Given the description of an element on the screen output the (x, y) to click on. 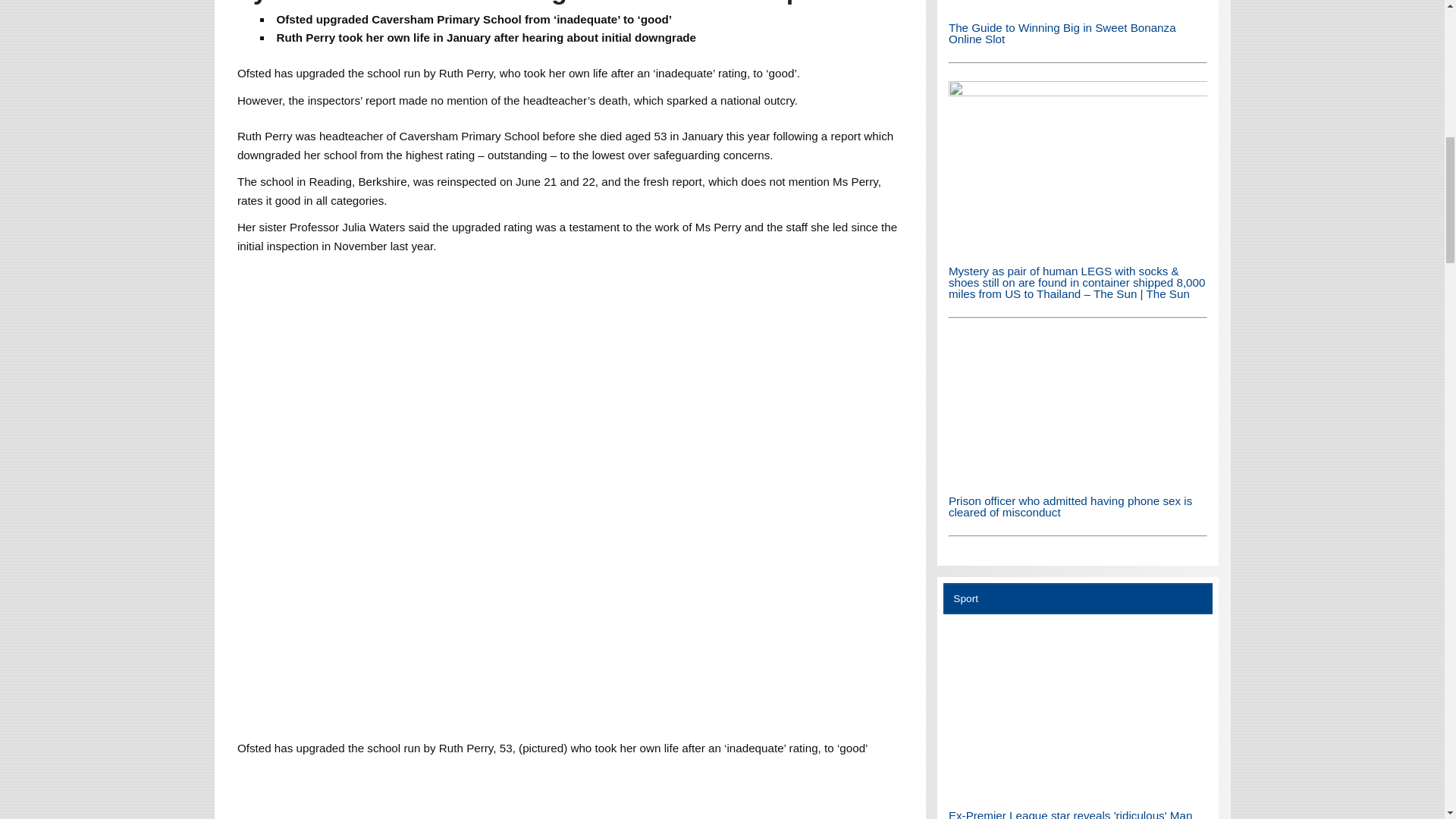
The Guide to Winning Big in Sweet Bonanza Online Slot (1078, 4)
The Guide to Winning Big in Sweet Bonanza Online Slot (1078, 5)
The Guide to Winning Big in Sweet Bonanza Online Slot (1062, 33)
